Given the description of an element on the screen output the (x, y) to click on. 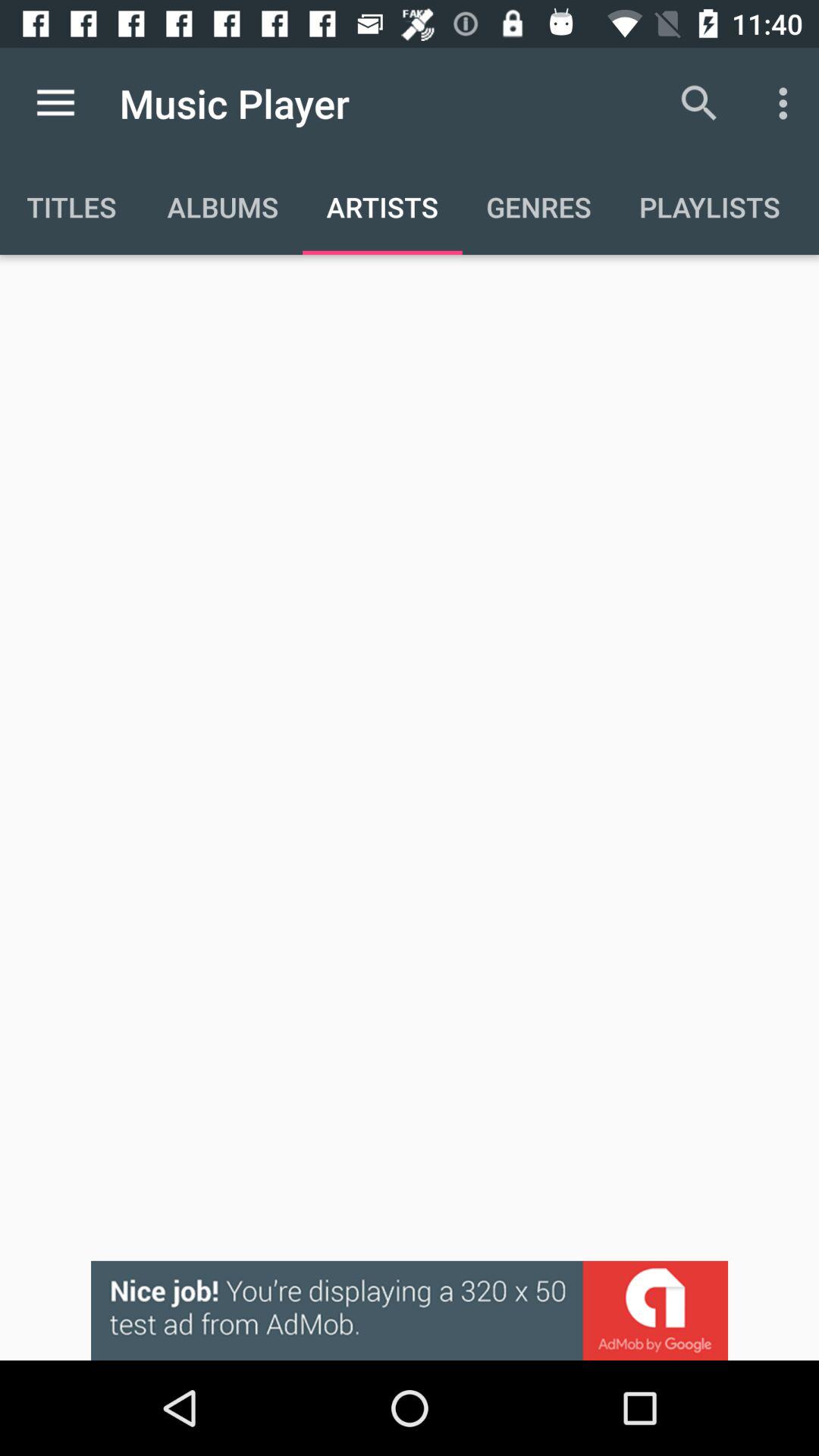
open menu (55, 103)
